Given the description of an element on the screen output the (x, y) to click on. 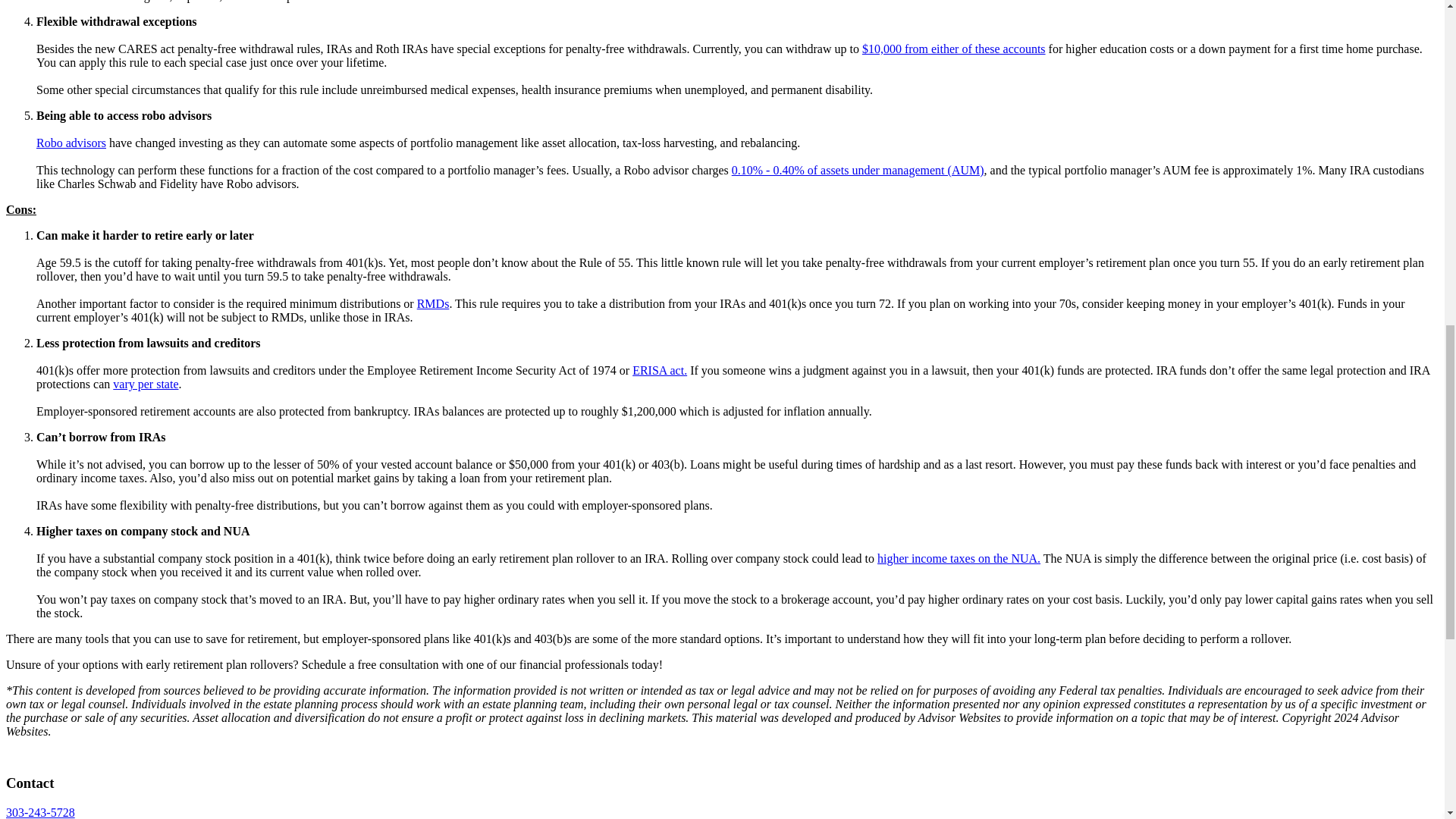
RMDs (432, 303)
vary per state (145, 383)
higher income taxes on the NUA. (959, 558)
Robo advisors (71, 143)
303-243-5728 (40, 812)
ERISA act. (659, 369)
